Given the description of an element on the screen output the (x, y) to click on. 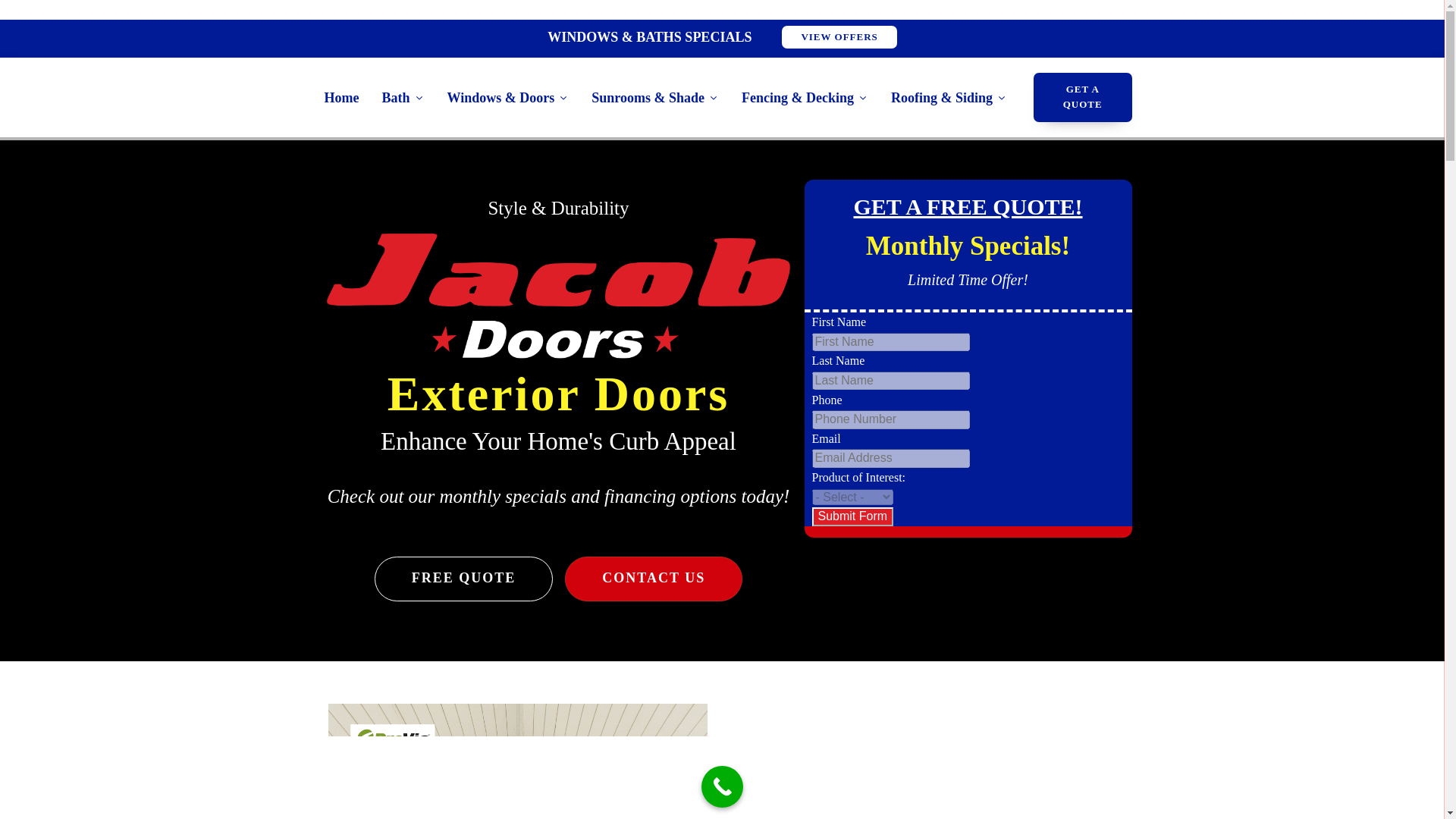
VIEW OFFERS (838, 37)
Home (341, 97)
Bath (402, 97)
